Given the description of an element on the screen output the (x, y) to click on. 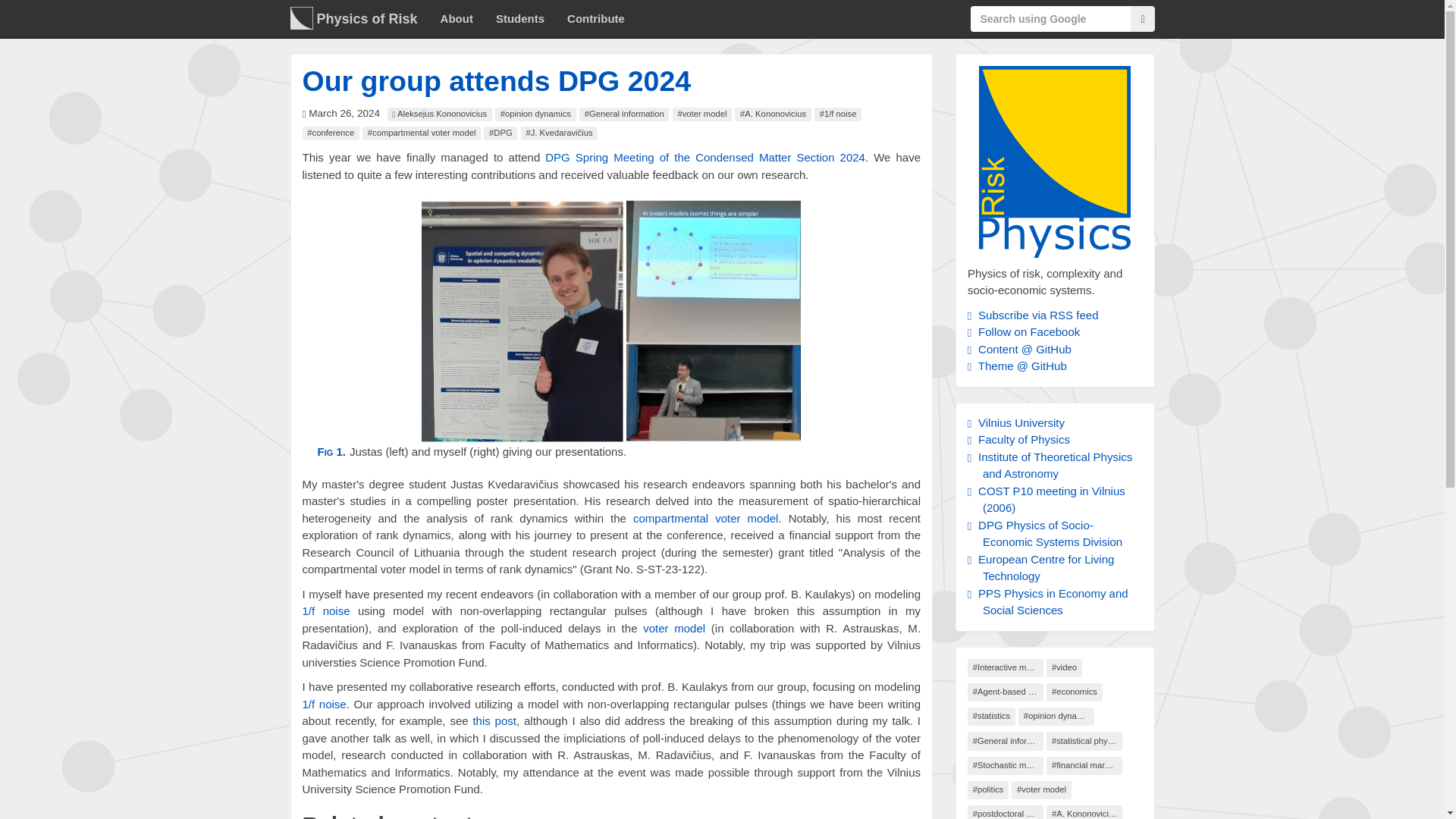
Students (520, 18)
compartmental voter model (705, 517)
PPS Physics in Economy and Social Sciences (1051, 602)
Vilnius University (1019, 422)
Aleksejus Kononovicius (439, 114)
European Centre for Living Technology (1044, 567)
Subscribe via RSS feed (1037, 314)
Faculty of Physics (1022, 439)
Institute of Theoretical Physics and Astronomy (1053, 465)
Contribute (596, 18)
DPG Physics of Socio-Economic Systems Division (1048, 533)
DPG Spring Meeting of the Condensed Matter Section 2024 (704, 156)
this post (493, 720)
About (456, 18)
View articles written by this author (439, 114)
